Given the description of an element on the screen output the (x, y) to click on. 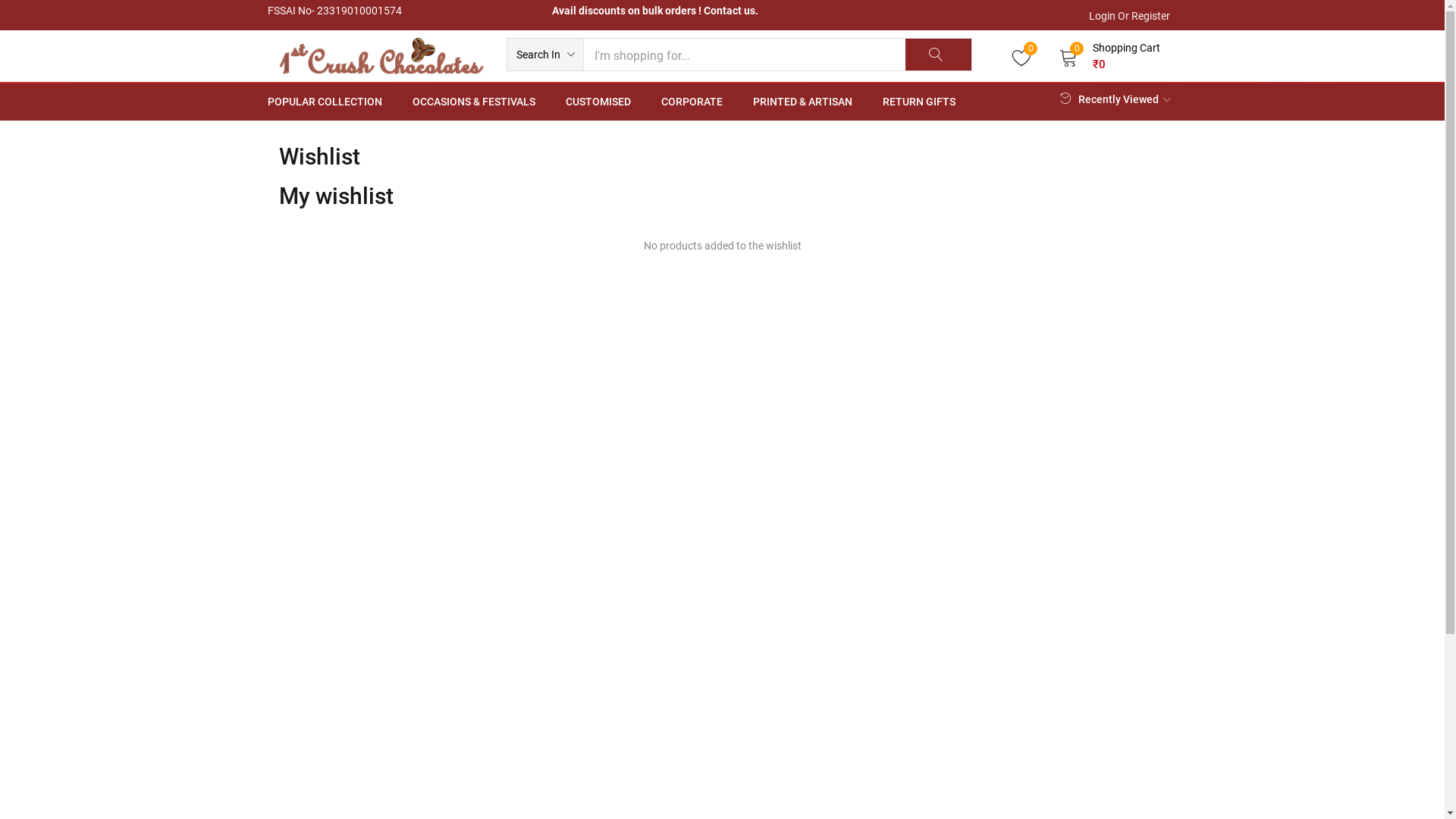
CUSTOMISED Element type: text (598, 101)
Login Or Register Element type: text (1125, 15)
POPULAR COLLECTION Element type: text (331, 101)
PRINTED & ARTISAN Element type: text (801, 101)
RETURN GIFTS Element type: text (918, 101)
0 Element type: text (1021, 55)
OCCASIONS & FESTIVALS Element type: text (473, 101)
CORPORATE Element type: text (691, 101)
